Given the description of an element on the screen output the (x, y) to click on. 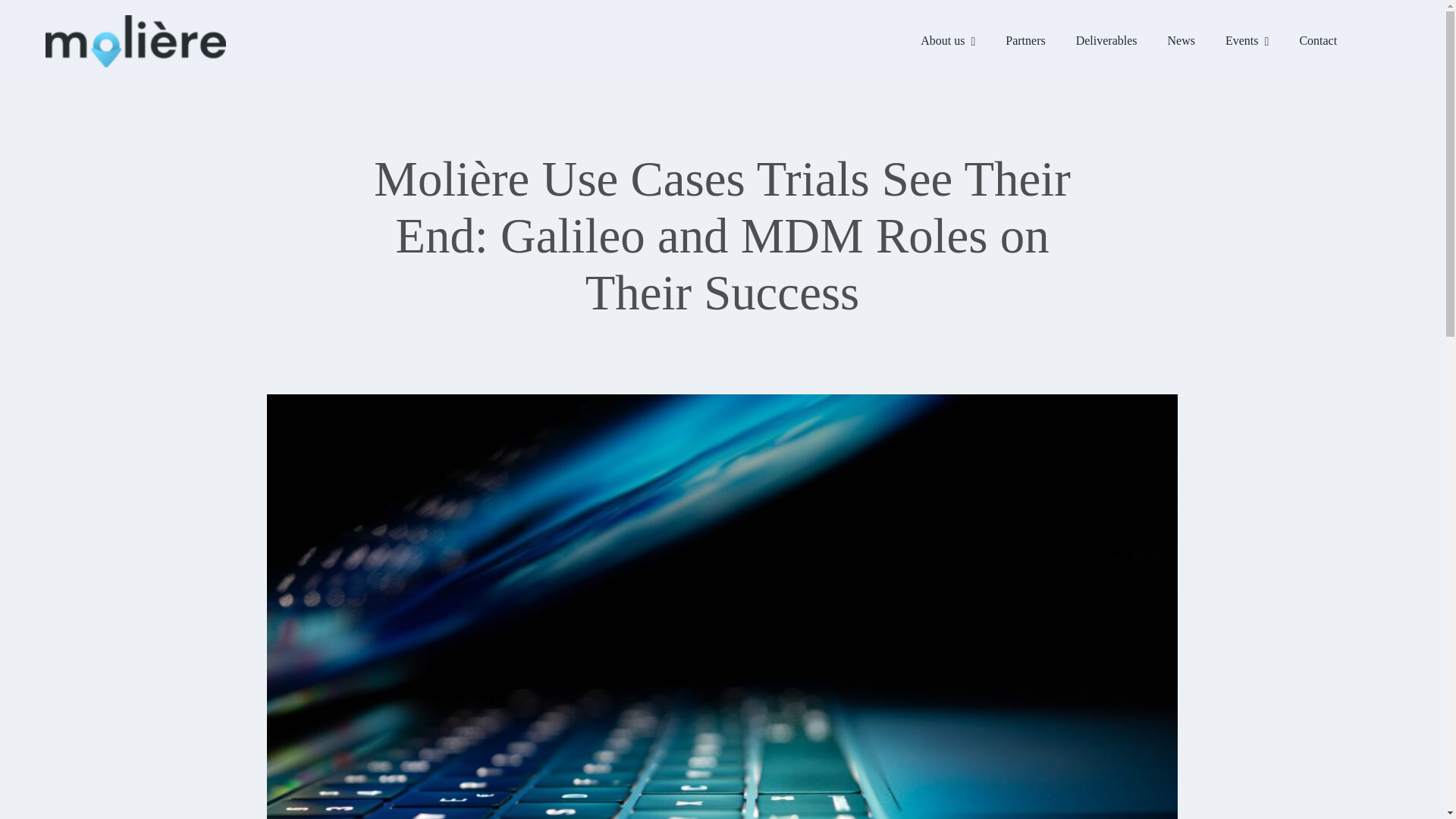
Events (1246, 41)
Deliverables (1107, 41)
About us (947, 41)
Contact (1318, 41)
Partners (1024, 41)
News (1181, 41)
Logo (135, 41)
